Given the description of an element on the screen output the (x, y) to click on. 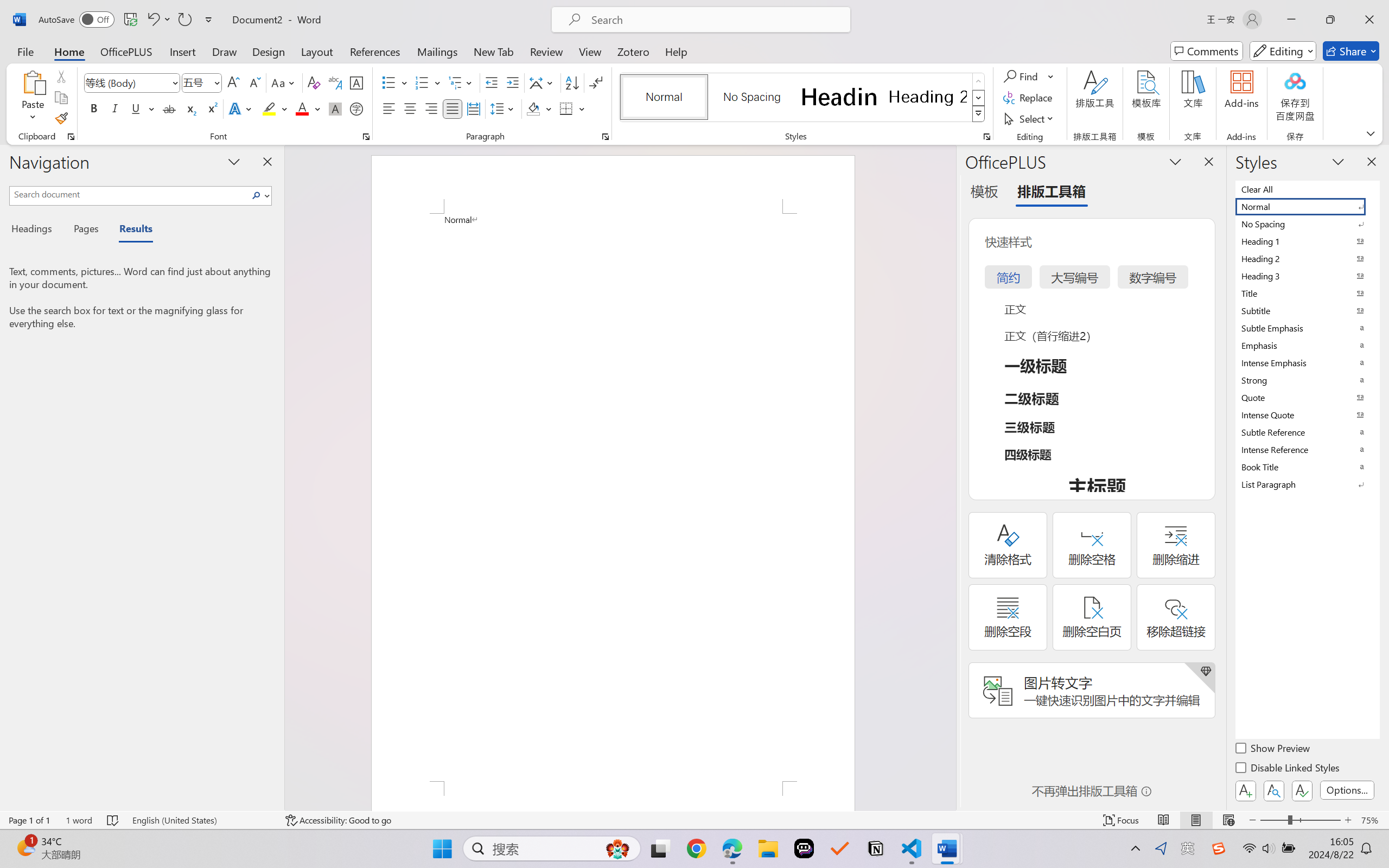
More Options (1051, 75)
AutomationID: BadgeAnchorLargeTicker (24, 847)
Find (1029, 75)
Asian Layout (542, 82)
Shading (539, 108)
Intense Emphasis (1306, 362)
Search (256, 195)
Strong (1306, 379)
Emphasis (1306, 345)
Find (1022, 75)
Zoom (1300, 819)
New Tab (493, 51)
References (375, 51)
Paste (33, 97)
